Given the description of an element on the screen output the (x, y) to click on. 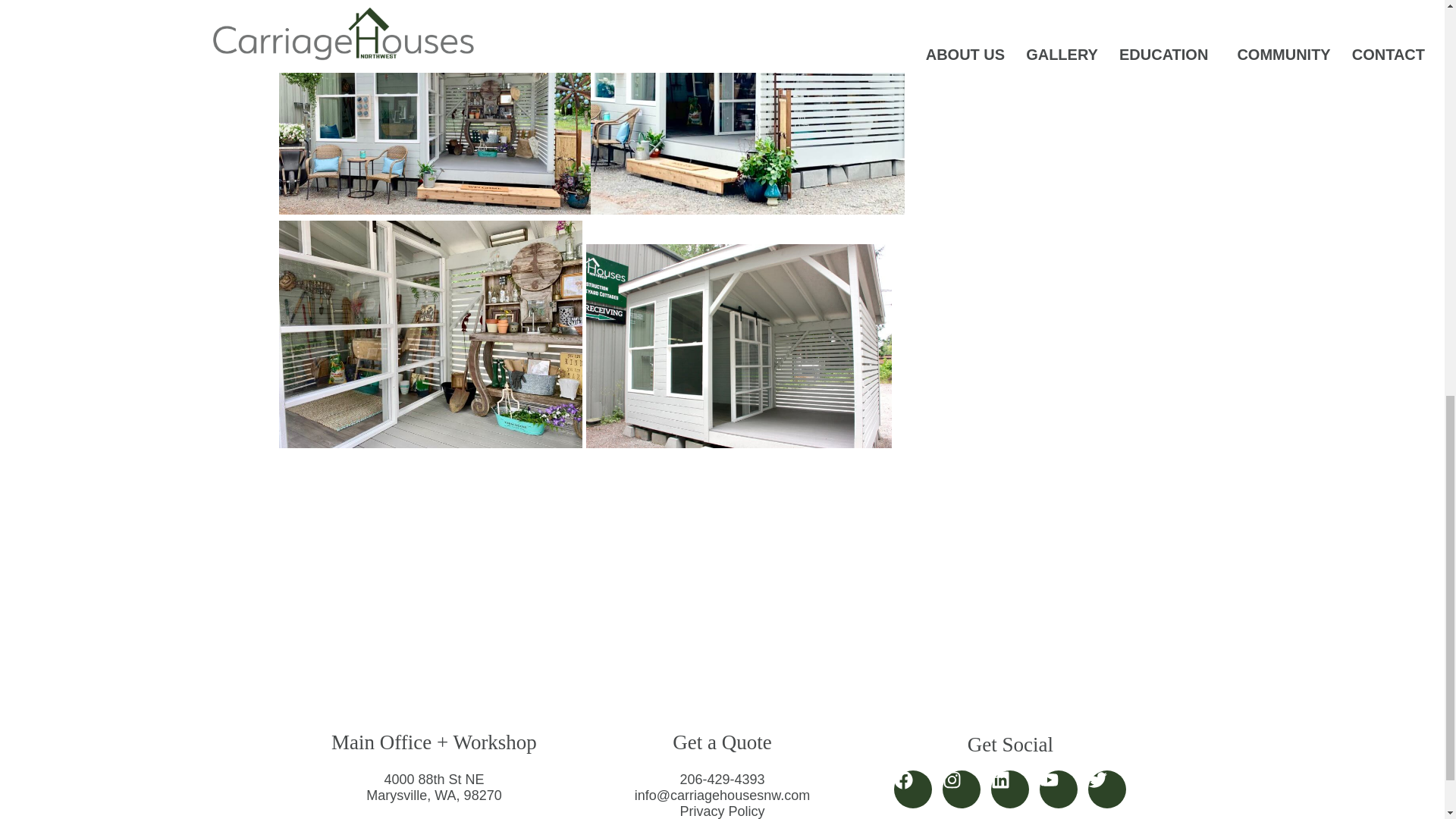
206-429-4393 (721, 779)
Privacy Policy (721, 811)
